Given the description of an element on the screen output the (x, y) to click on. 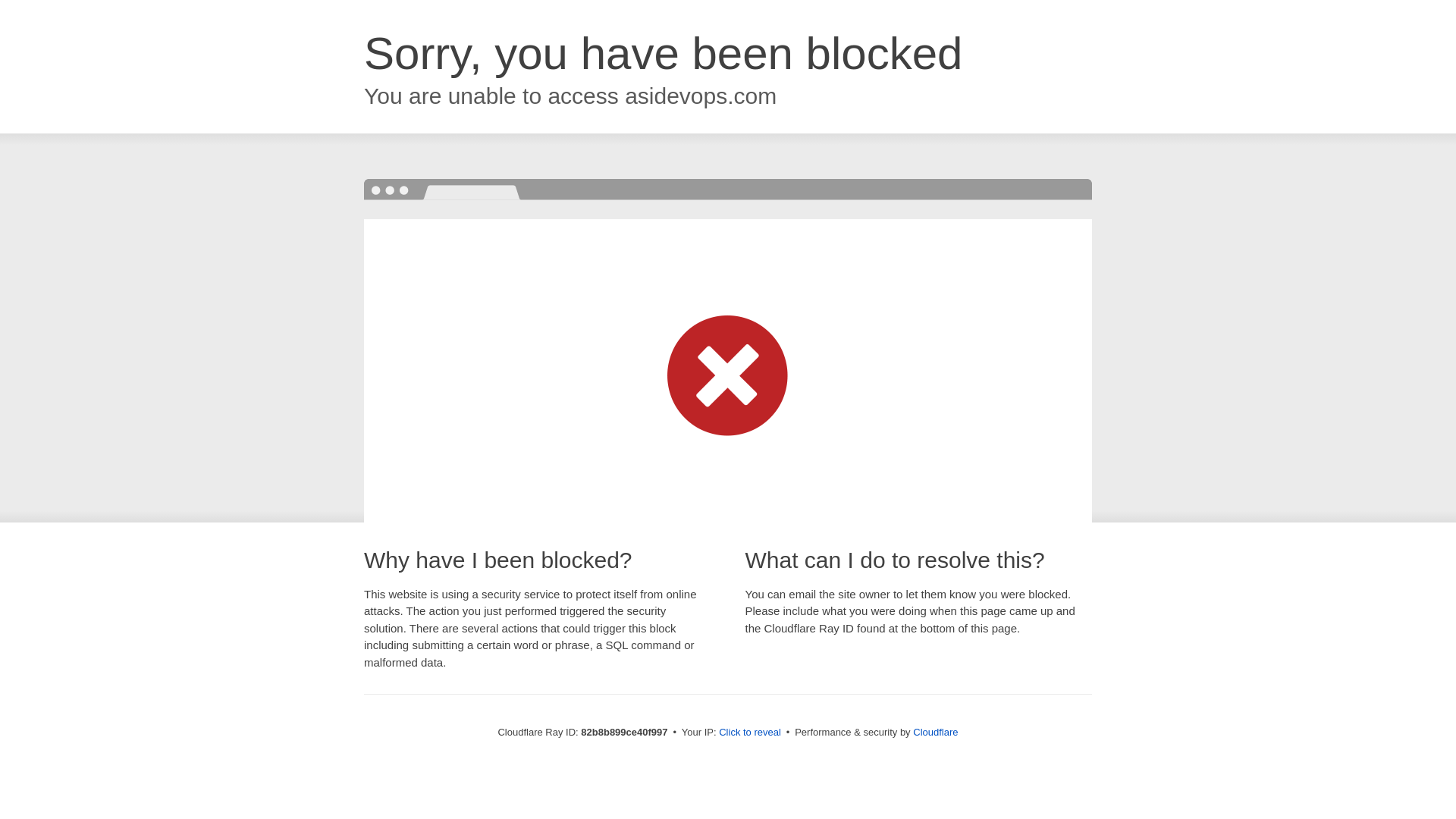
Cloudflare Element type: text (935, 731)
Click to reveal Element type: text (749, 732)
